Given the description of an element on the screen output the (x, y) to click on. 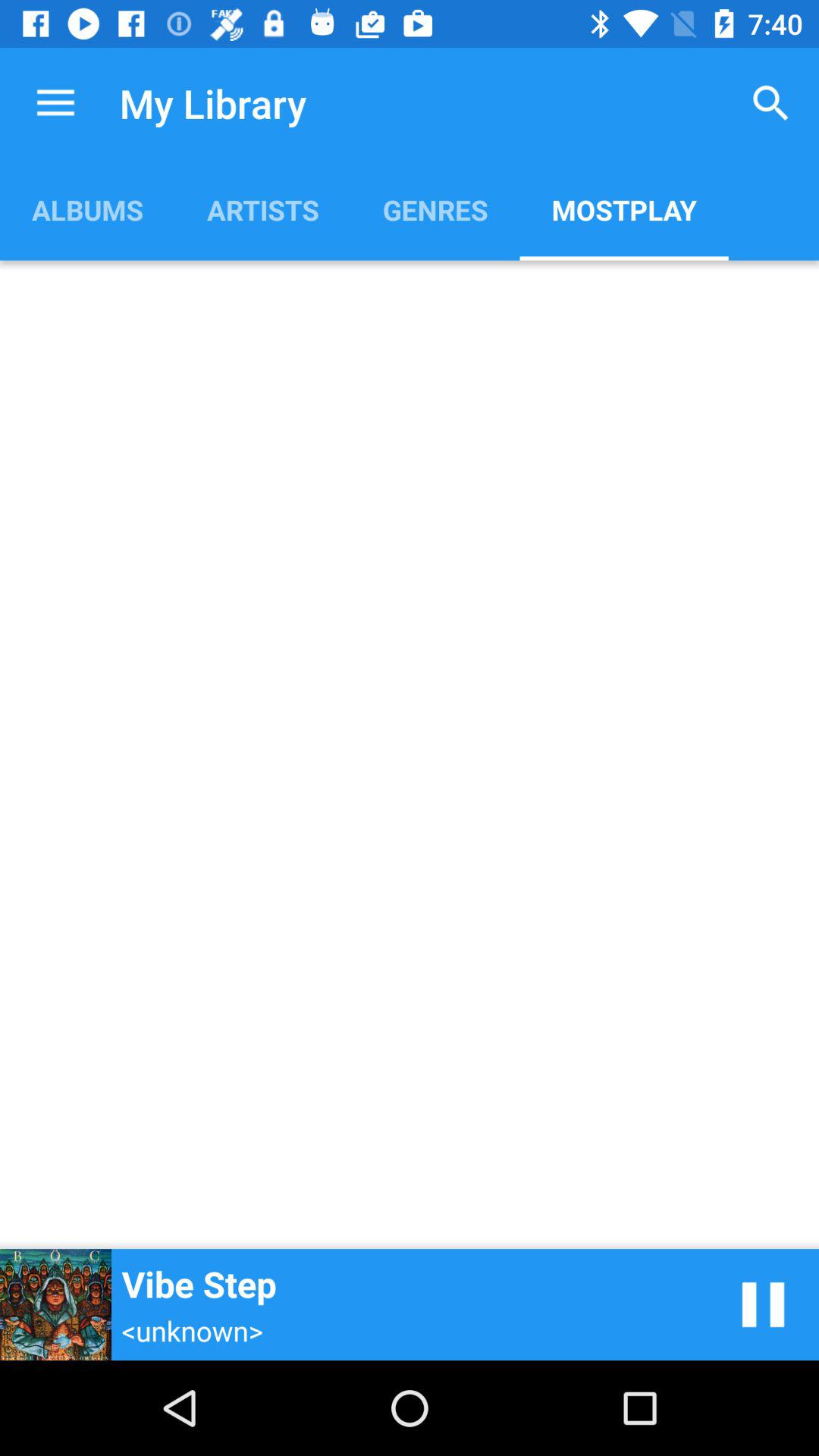
press the artists icon (262, 209)
